Given the description of an element on the screen output the (x, y) to click on. 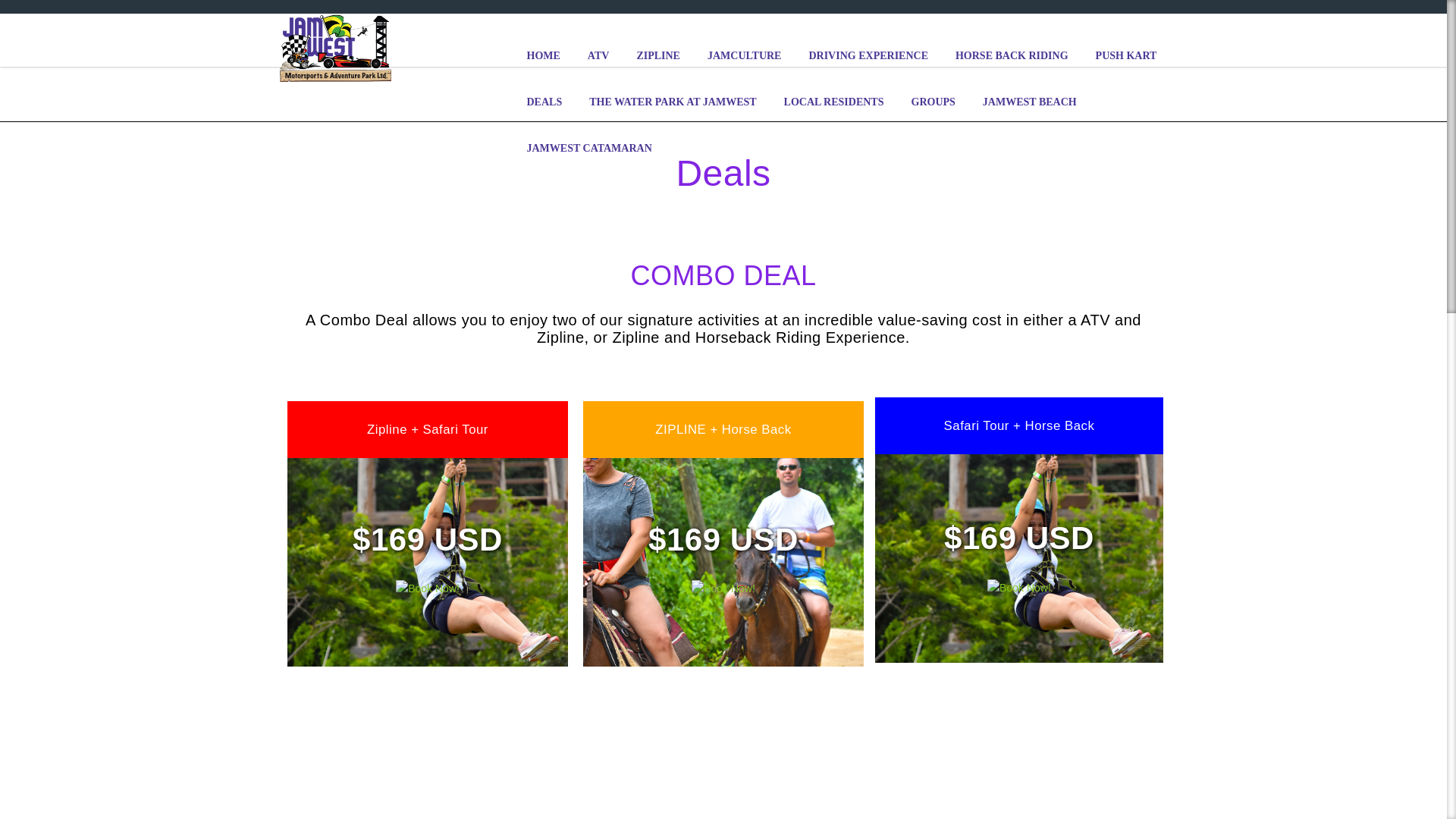
Contact (757, 22)
JAMCULTURE (744, 55)
ATV (598, 55)
About Us (700, 22)
LOCAL RESIDENTS (834, 101)
Gallery (1133, 22)
DRIVING EXPERIENCE (868, 55)
Events (880, 22)
Travel Agent (942, 22)
GROUPS (933, 101)
FAQs (1002, 22)
DEALS (543, 101)
Book Now! (723, 588)
Book Now! (428, 588)
ZIPLINE (658, 55)
